Given the description of an element on the screen output the (x, y) to click on. 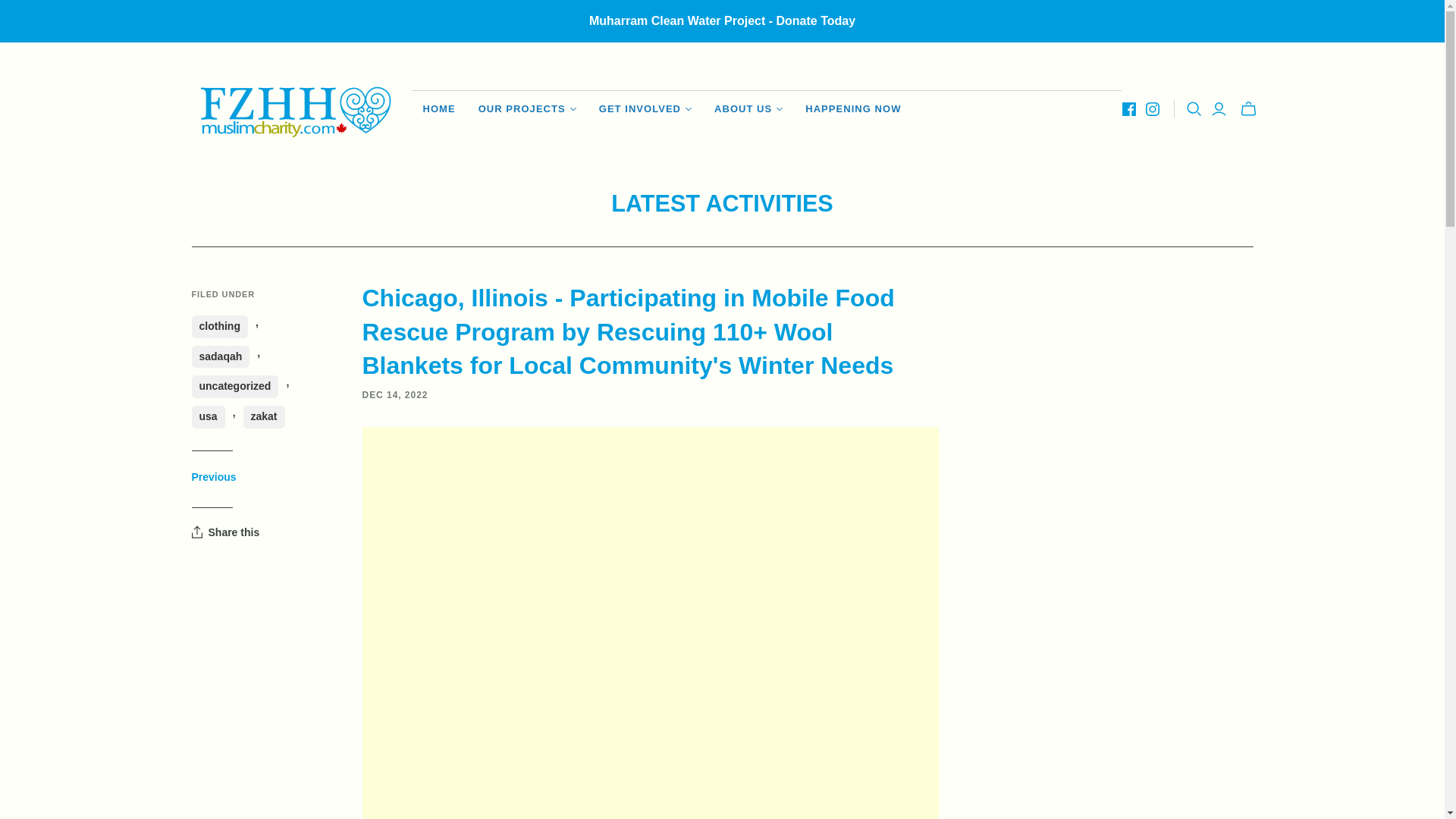
Toggle mini cart (1248, 108)
HAPPENING NOW (852, 108)
HOME (437, 108)
